Given the description of an element on the screen output the (x, y) to click on. 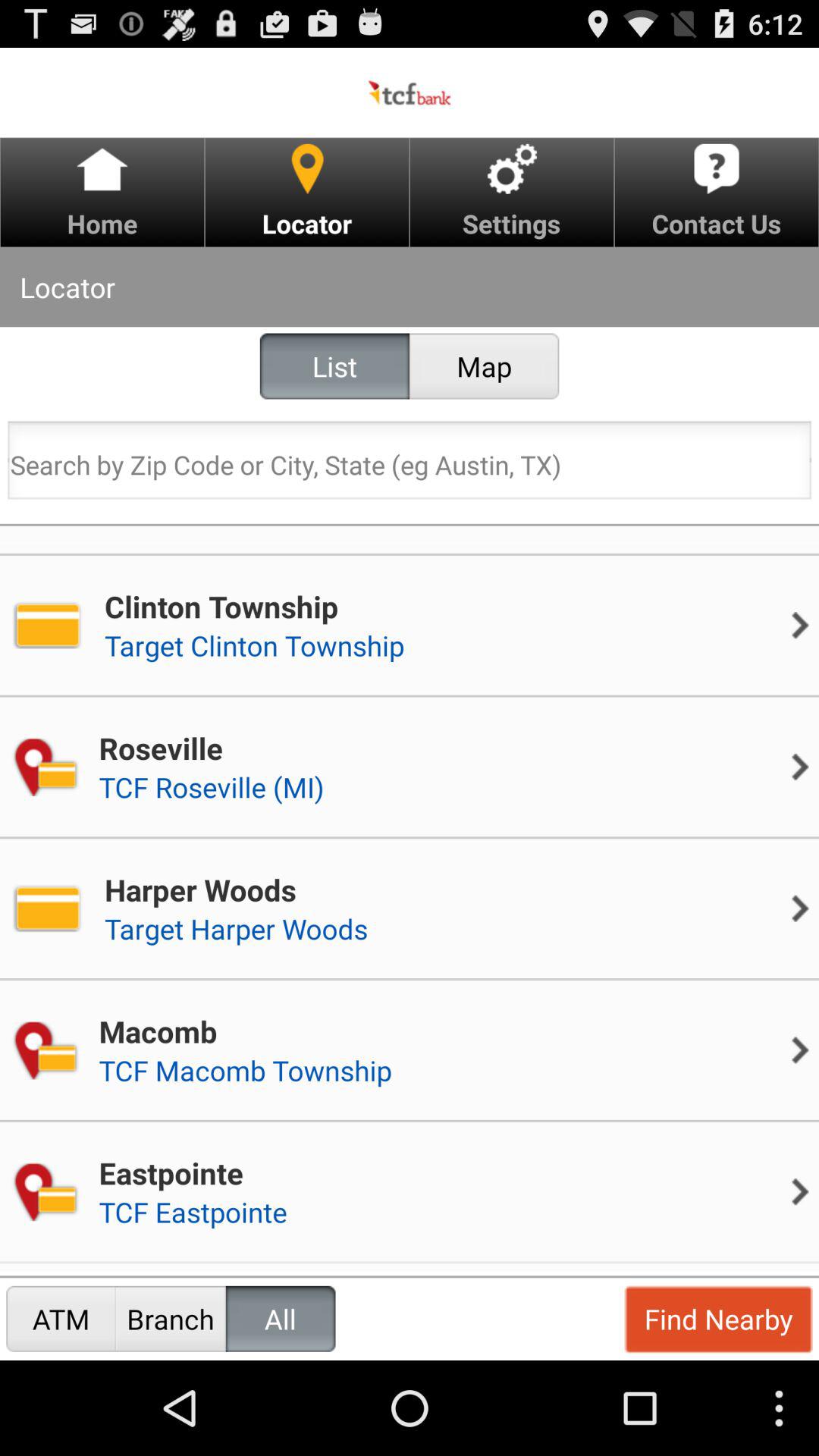
tap the item to the left of all radio button (170, 1318)
